Given the description of an element on the screen output the (x, y) to click on. 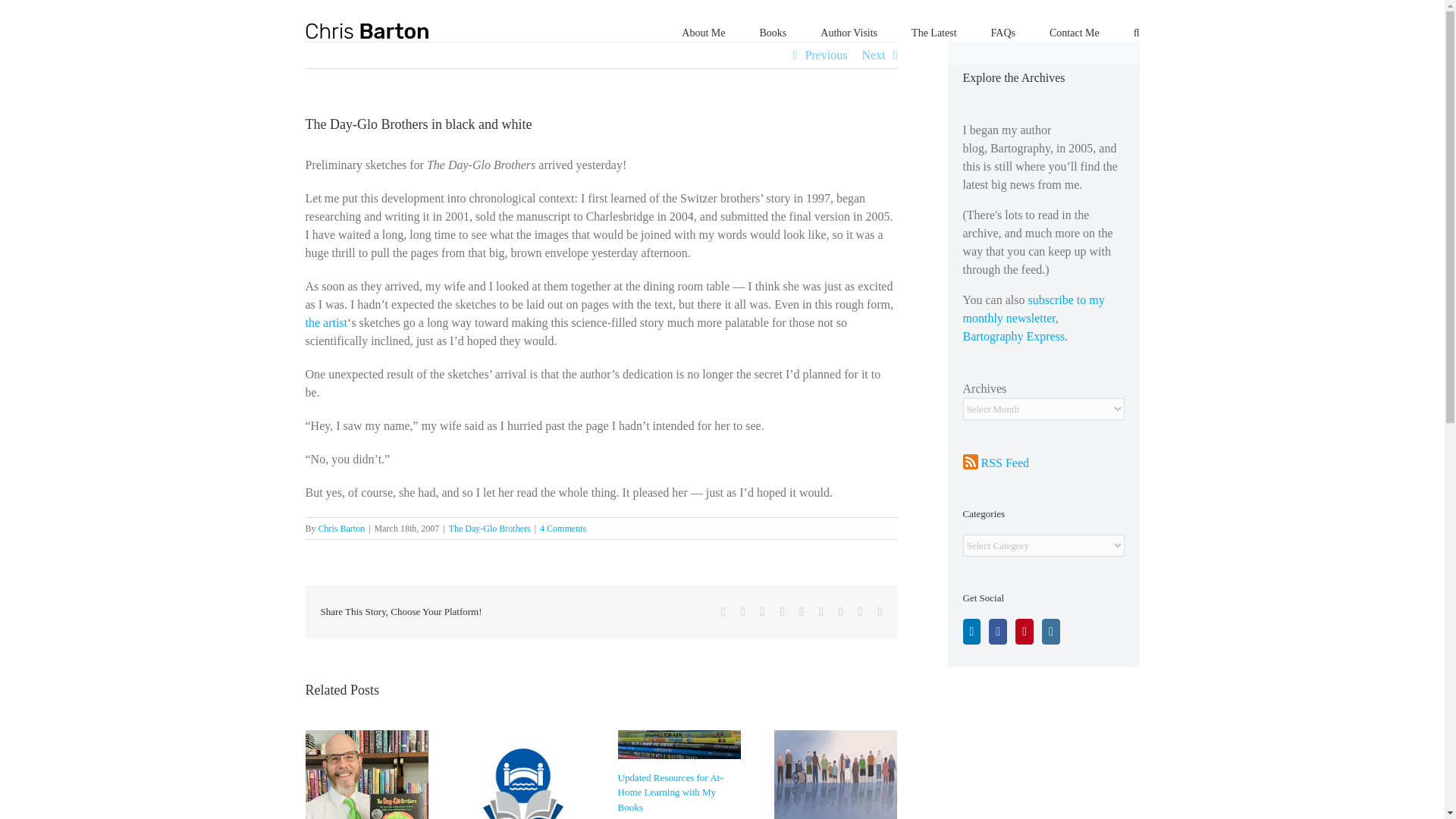
Posts by Chris Barton (341, 528)
Updated Resources for At-Home Learning with My Books (669, 792)
Author Visits (849, 31)
